Given the description of an element on the screen output the (x, y) to click on. 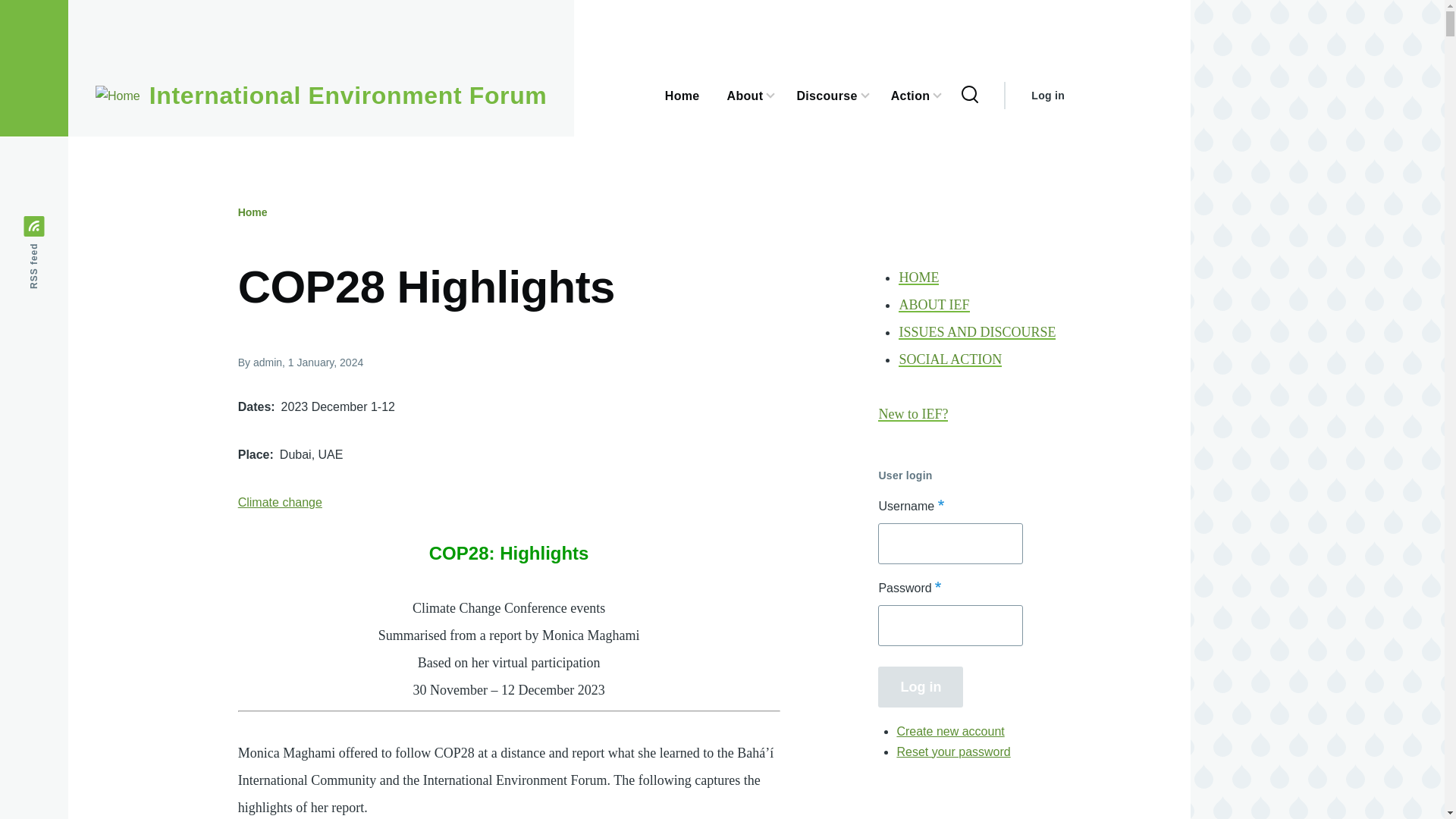
Climate change (279, 502)
Send password reset instructions via email. (953, 750)
Create a new user account. (950, 730)
Home (348, 94)
Log in (1047, 94)
Log in (919, 685)
Home (252, 212)
International Environment Forum (348, 94)
Skip to main content (595, 6)
